Given the description of an element on the screen output the (x, y) to click on. 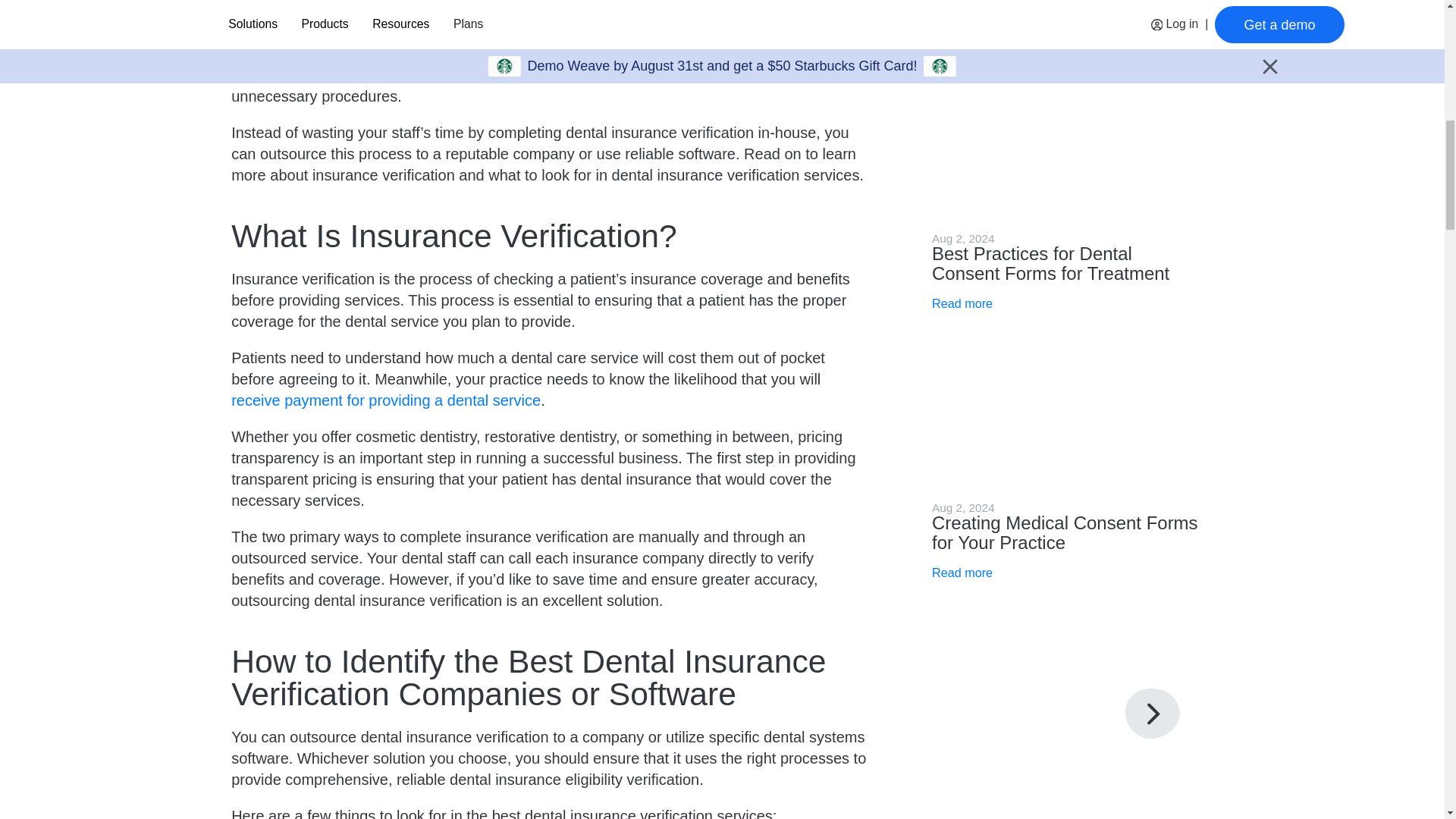
Read more (961, 572)
receive payment for providing a dental service (385, 400)
Best Practices for Dental Consent Forms for Treatment (1050, 263)
essential (814, 11)
Read more (961, 303)
Read more (961, 34)
Creating Medical Consent Forms for Your Practice (1064, 532)
